Given the description of an element on the screen output the (x, y) to click on. 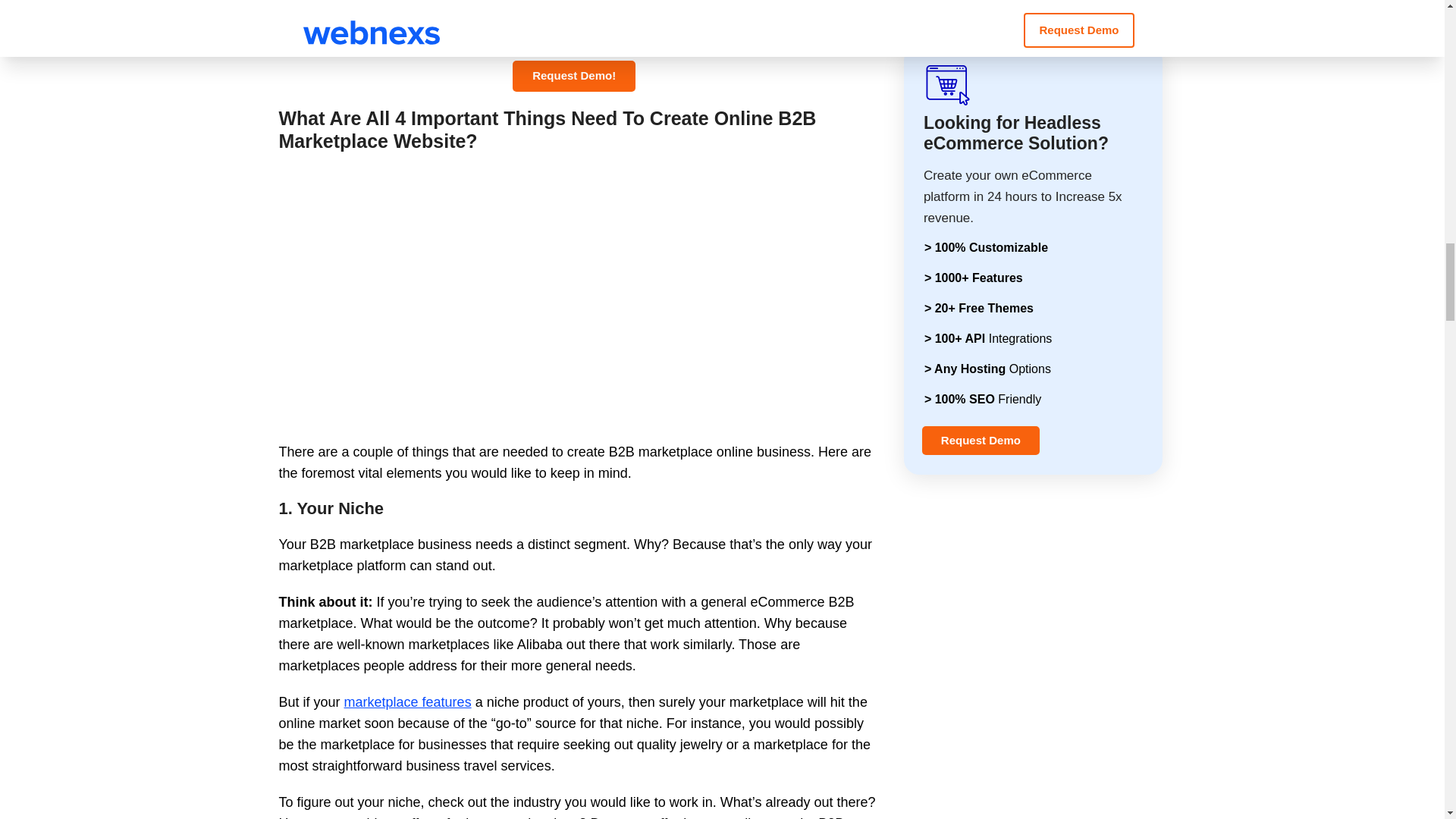
marketplace features (407, 702)
Request Demo! (573, 75)
